Given the description of an element on the screen output the (x, y) to click on. 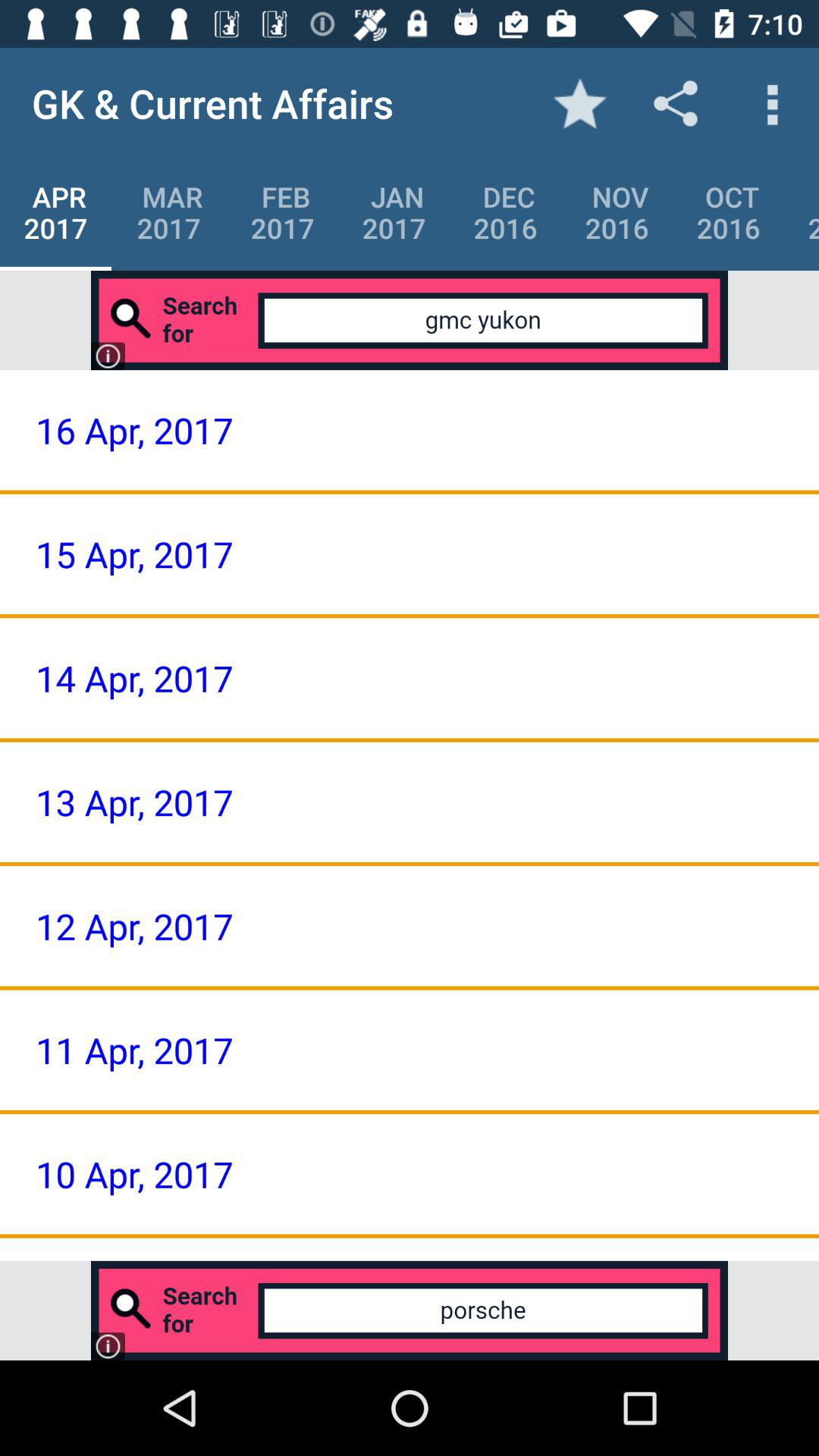
turn off item next to the  dec
2016 (616, 212)
